Given the description of an element on the screen output the (x, y) to click on. 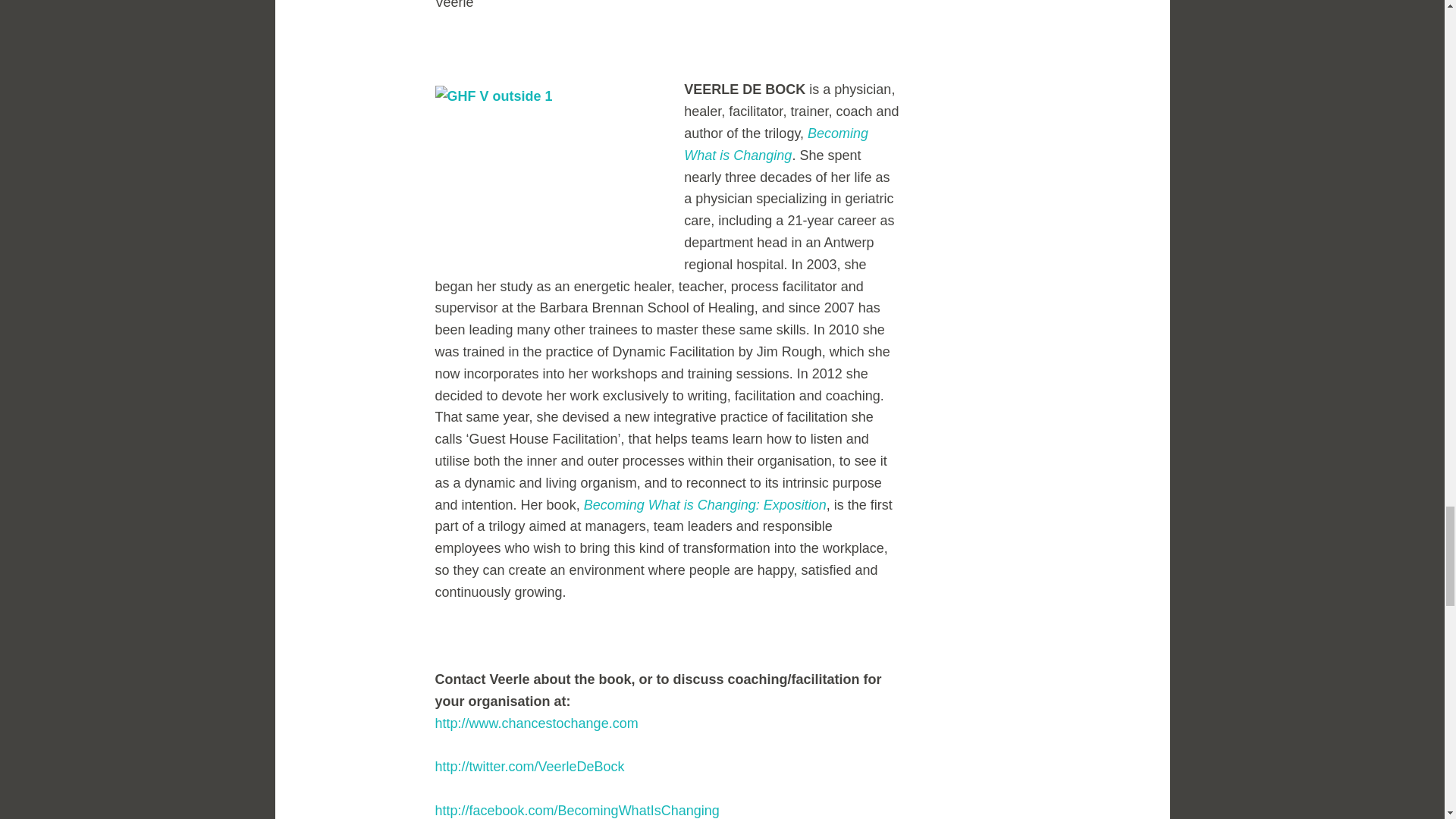
Becoming What is Changing: Exposition (705, 504)
Becoming What is Changing (775, 144)
